Given the description of an element on the screen output the (x, y) to click on. 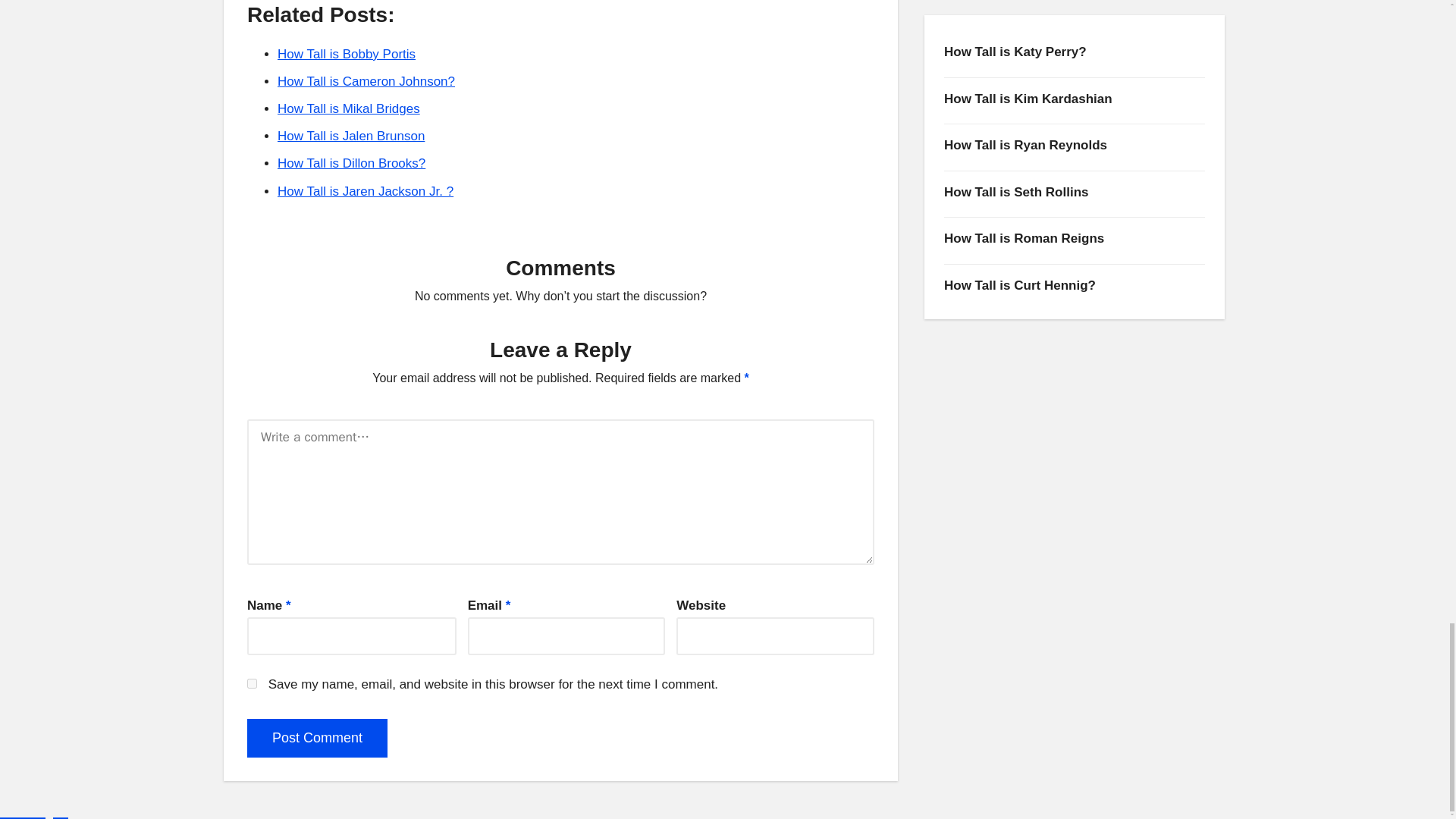
Post Comment (317, 738)
How Tall is Dillon Brooks? (351, 163)
How Tall is Jaren Jackson Jr. ? (365, 191)
Post Comment (317, 738)
yes (252, 683)
How Tall is Bobby Portis (346, 53)
How Tall is Cameron Johnson? (366, 81)
How Tall is Jalen Brunson (351, 135)
How Tall is Mikal Bridges (349, 108)
